Given the description of an element on the screen output the (x, y) to click on. 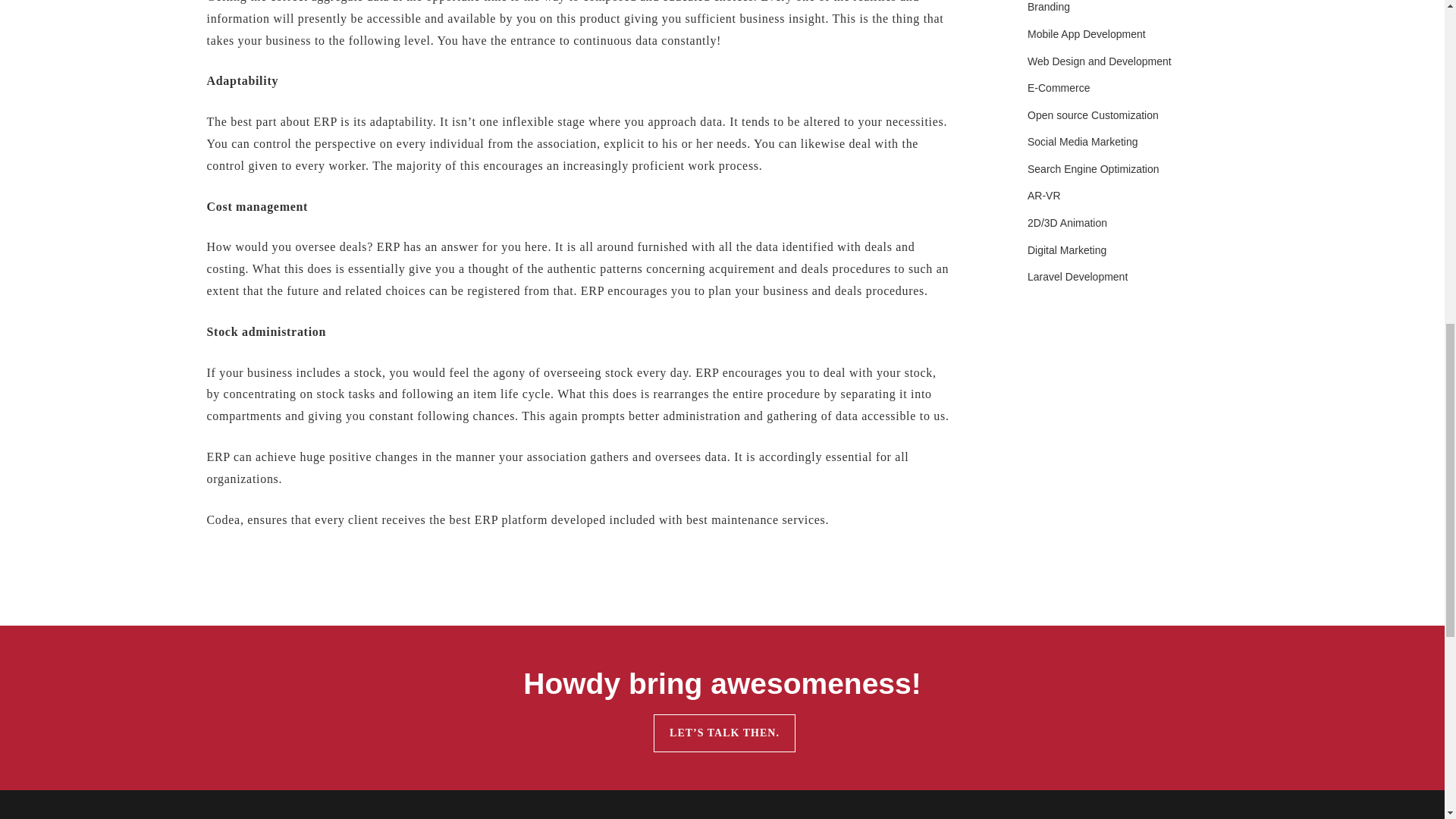
Open source Customization (1120, 119)
Social Media Marketing (1106, 146)
E-Commerce (1071, 92)
Branding (1057, 11)
Web Design and Development (1128, 65)
Mobile App Development (1111, 39)
